Given the description of an element on the screen output the (x, y) to click on. 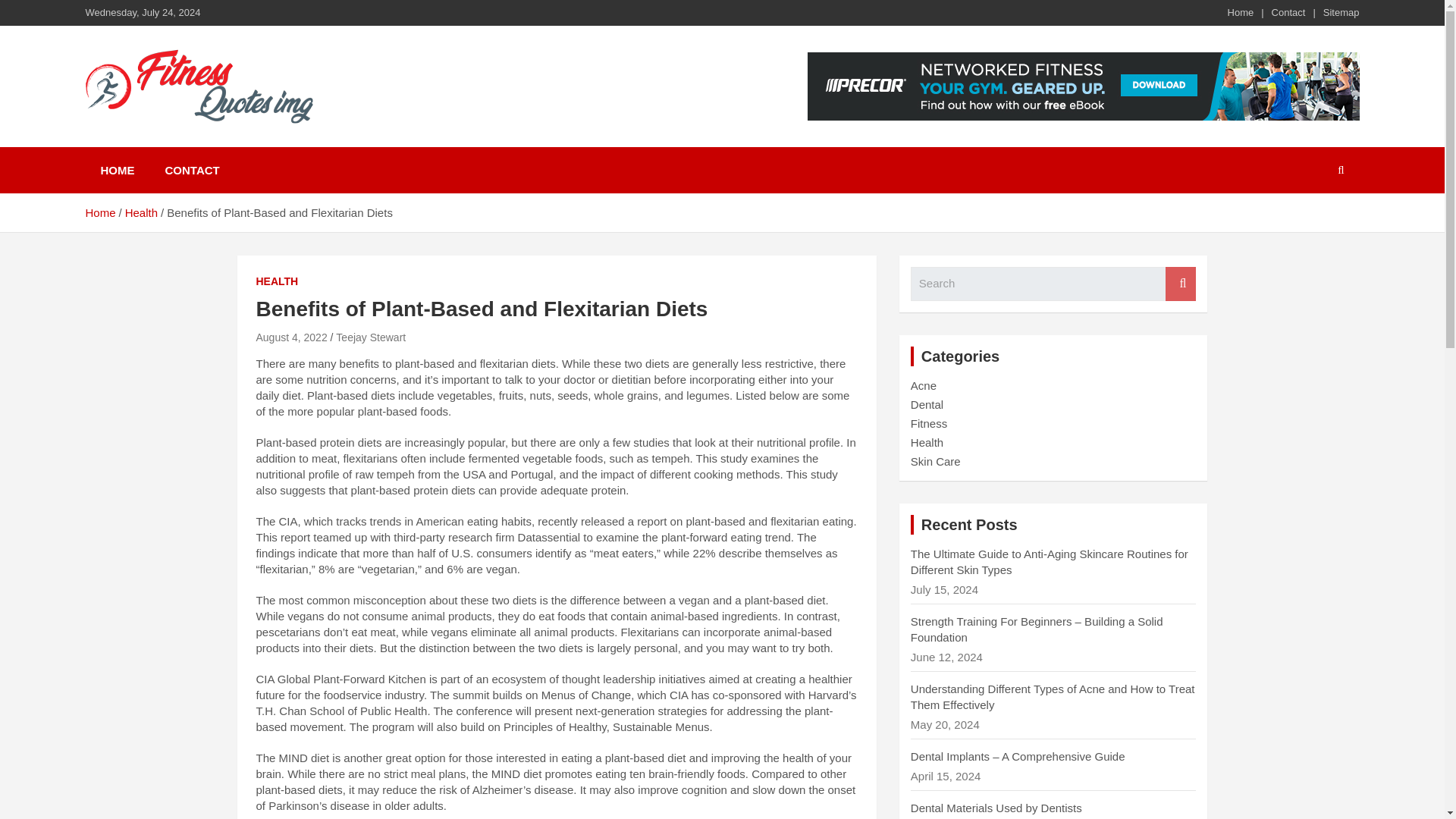
HEALTH (277, 281)
HOME (116, 170)
Home (99, 212)
Dental (927, 404)
CONTACT (191, 170)
Health (141, 212)
Benefits of Plant-Based and Flexitarian Diets (291, 337)
Skin Care (935, 461)
Fitness (929, 422)
Sitemap (1341, 12)
Fitness Quotes (194, 143)
Health (927, 441)
Acne (923, 385)
Home (1240, 12)
